Given the description of an element on the screen output the (x, y) to click on. 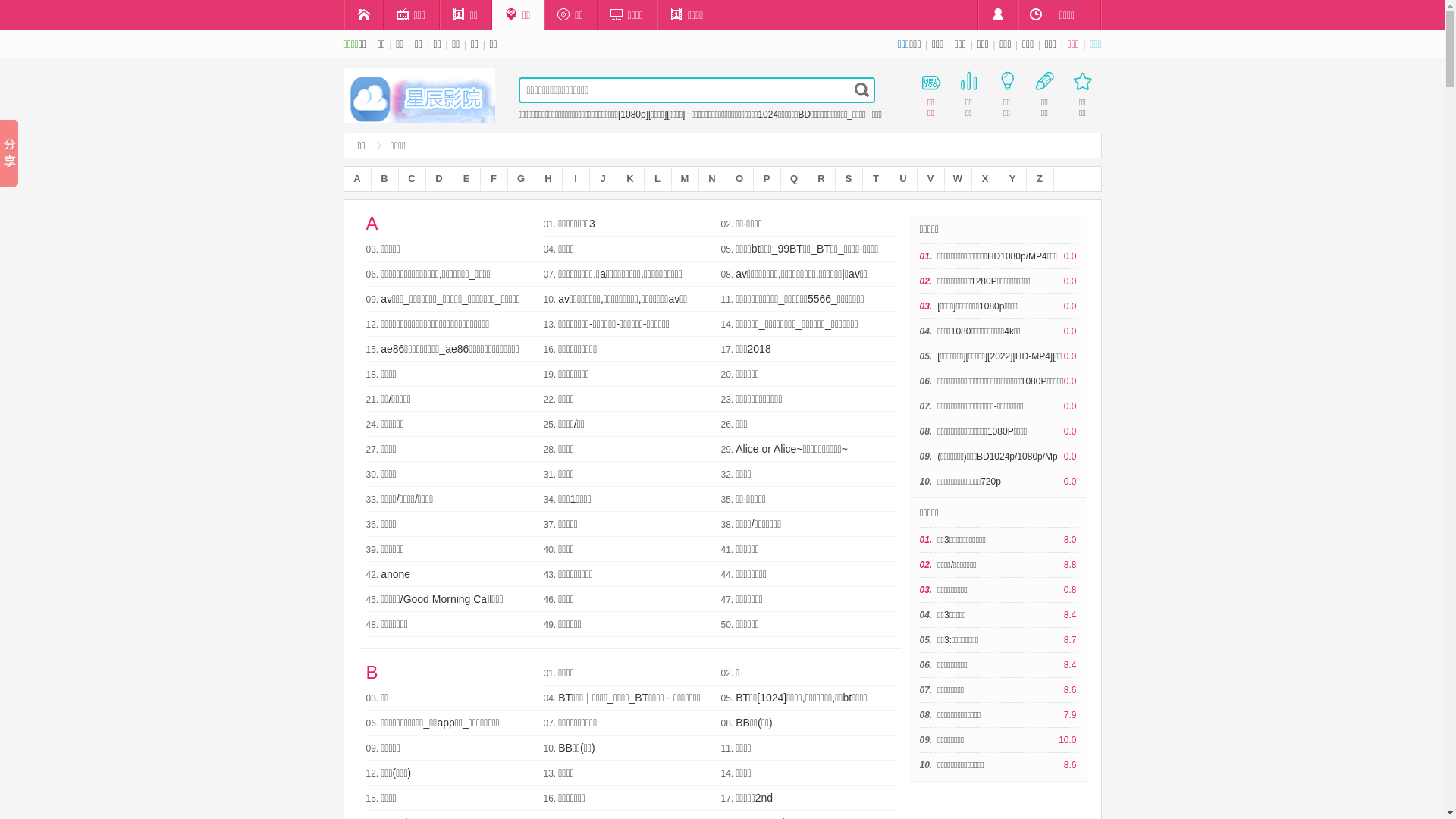
U Element type: text (903, 178)
D Element type: text (439, 178)
T Element type: text (875, 178)
Q Element type: text (794, 178)
M Element type: text (684, 178)
N Element type: text (712, 178)
B Element type: text (384, 178)
K Element type: text (630, 178)
X Element type: text (985, 178)
L Element type: text (657, 178)
V Element type: text (930, 178)
G Element type: text (521, 178)
C Element type: text (411, 178)
E Element type: text (466, 178)
J Element type: text (602, 178)
Z Element type: text (1039, 178)
F Element type: text (493, 178)
O Element type: text (739, 178)
anone Element type: text (395, 573)
A Element type: text (371, 223)
H Element type: text (548, 178)
R Element type: text (821, 178)
Y Element type: text (1012, 178)
I Element type: text (575, 178)
W Element type: text (957, 178)
B Element type: text (371, 672)
A Element type: text (357, 178)
S Element type: text (848, 178)
P Element type: text (766, 178)
